Given the description of an element on the screen output the (x, y) to click on. 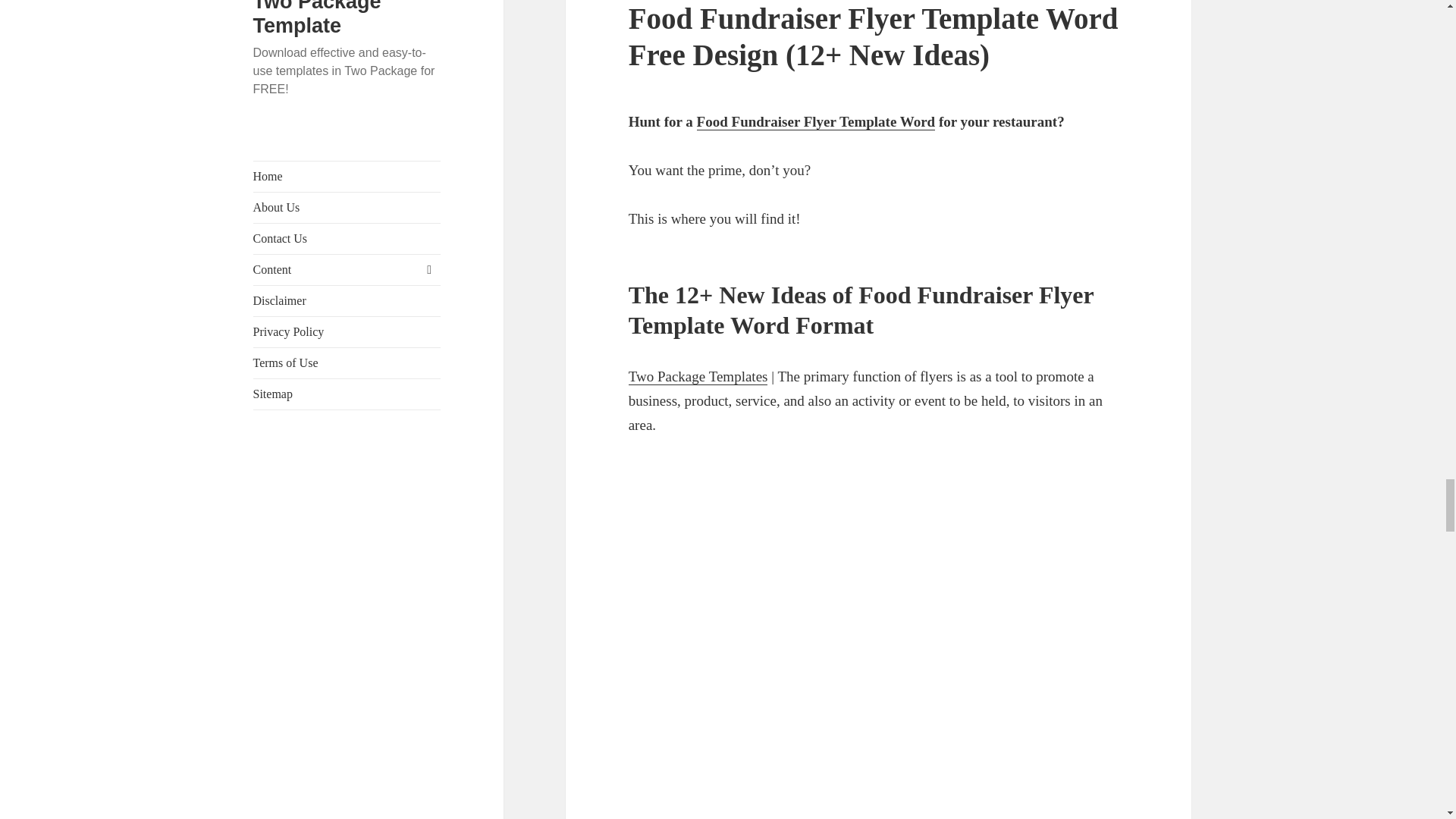
Two Package Templates (698, 376)
Food Fundraiser Flyer Template Word (816, 121)
